Given the description of an element on the screen output the (x, y) to click on. 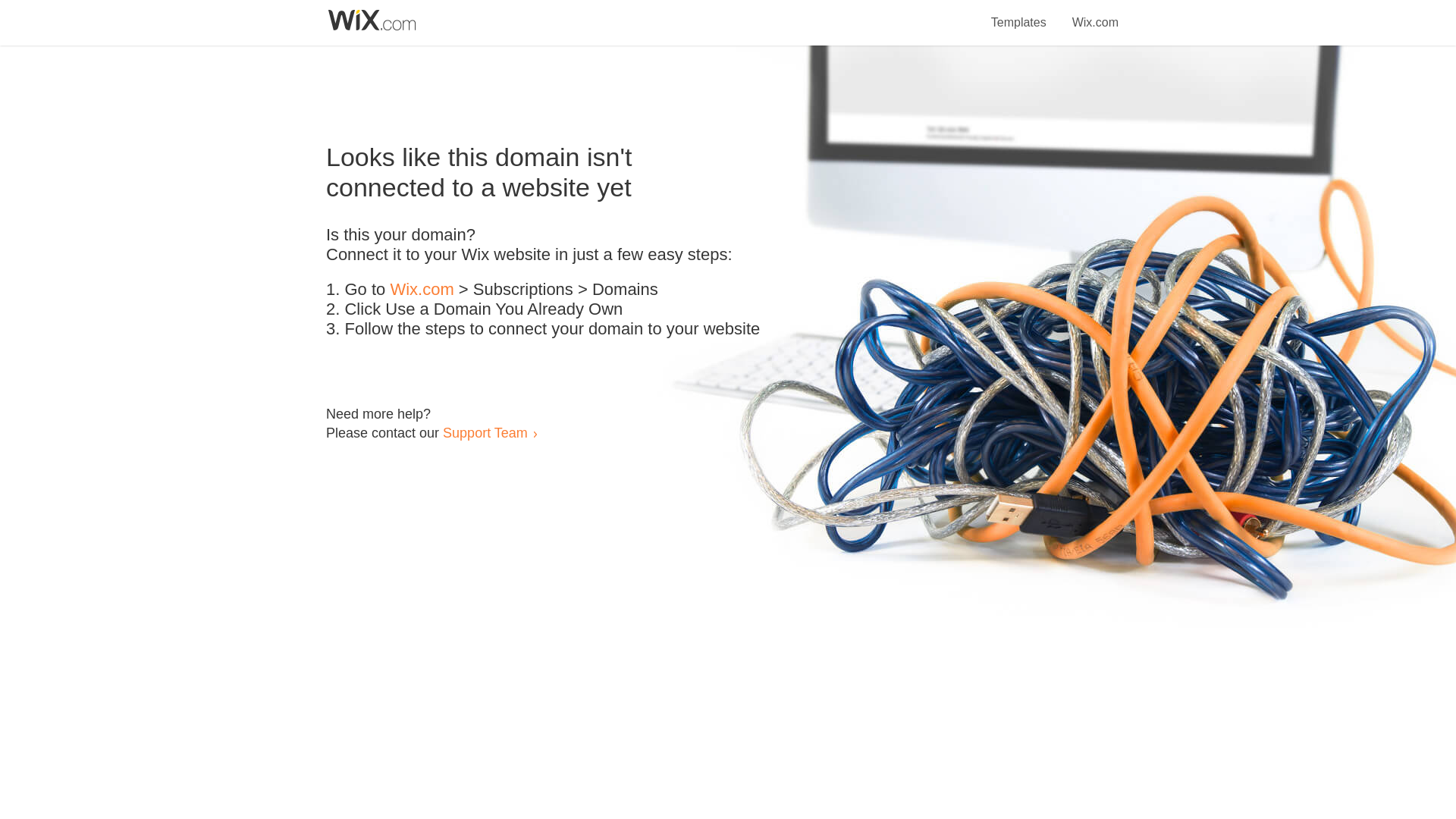
Support Team (484, 432)
Templates (1018, 14)
Wix.com (421, 289)
Wix.com (1095, 14)
